Given the description of an element on the screen output the (x, y) to click on. 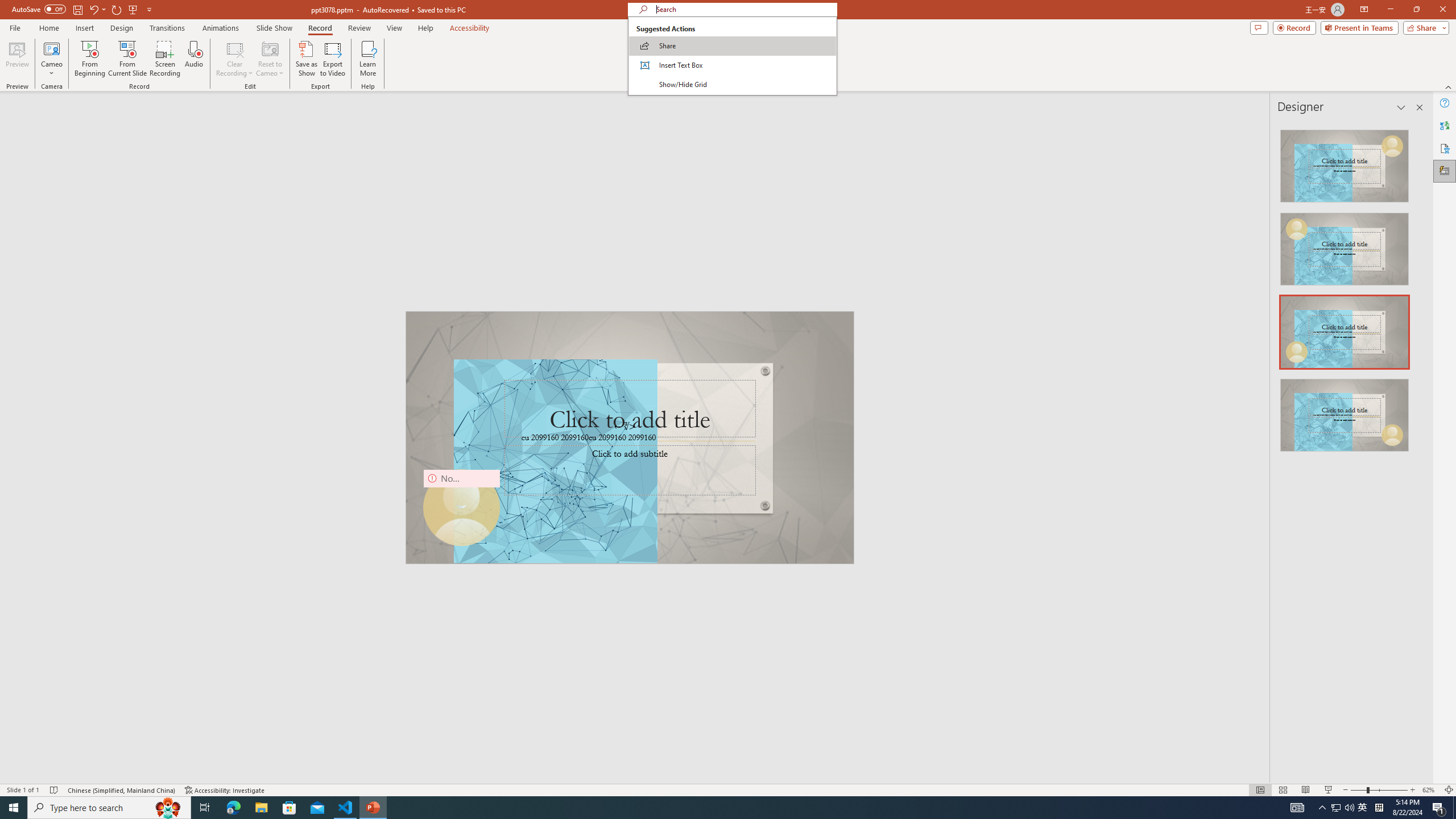
Class: NetUITWMenuContainer (731, 56)
